Given the description of an element on the screen output the (x, y) to click on. 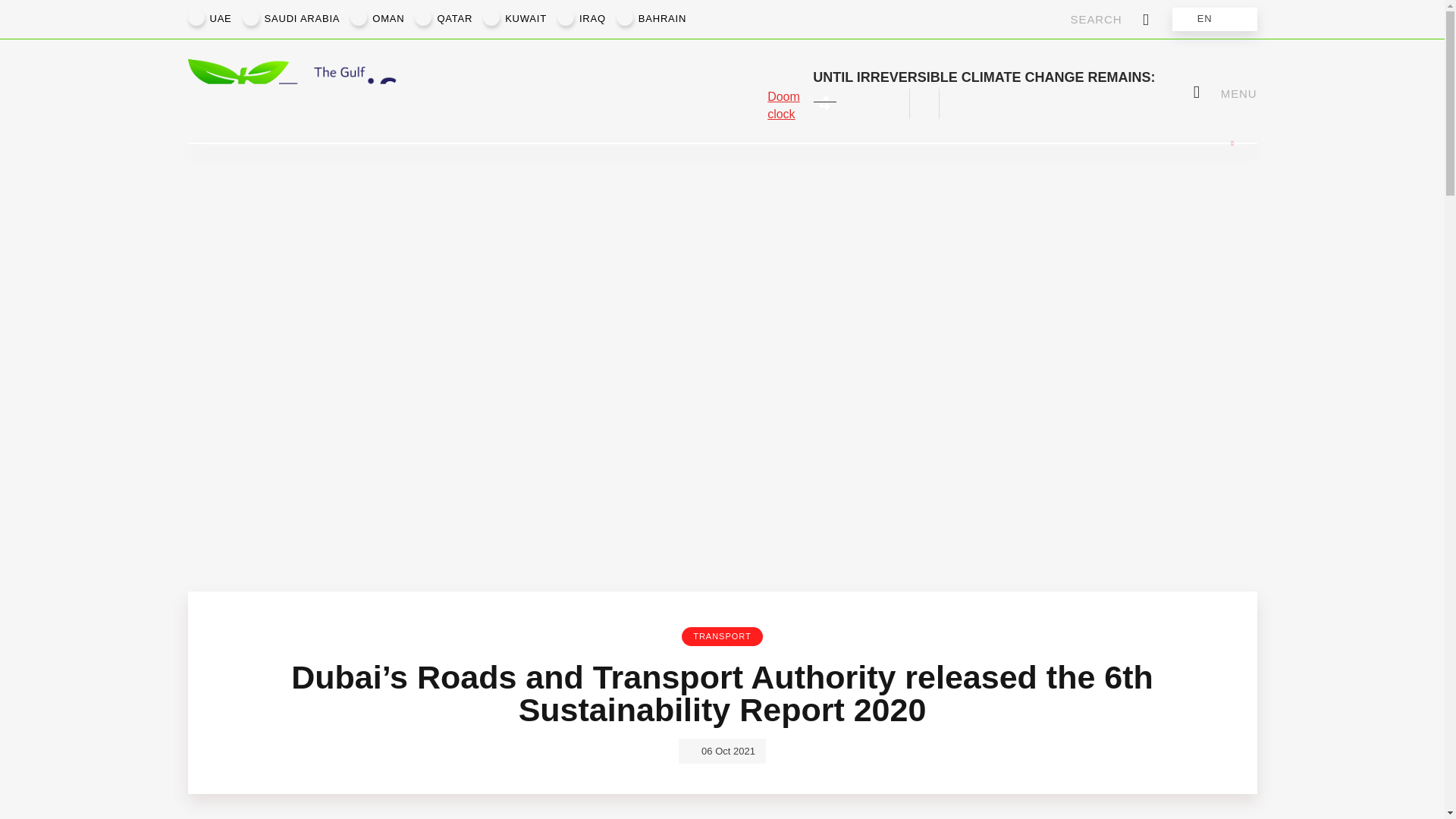
QATAR (454, 19)
UAE (220, 19)
BAHRAIN (662, 19)
OMAN (388, 19)
SEARCH (1110, 19)
SAUDI ARABIA (302, 19)
KUWAIT (525, 19)
IRAQ (592, 19)
